Given the description of an element on the screen output the (x, y) to click on. 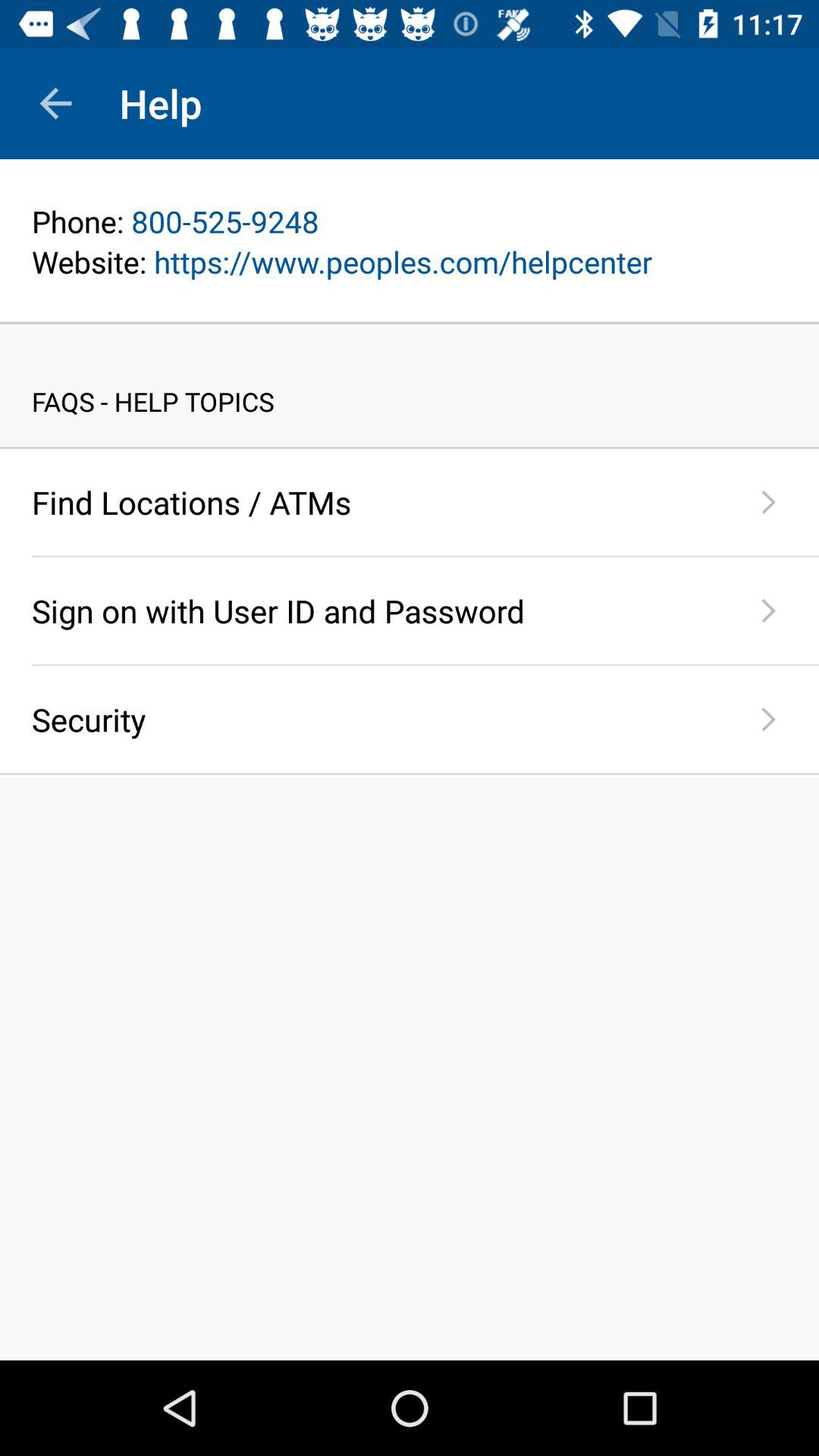
scroll to the sign on with (374, 610)
